Given the description of an element on the screen output the (x, y) to click on. 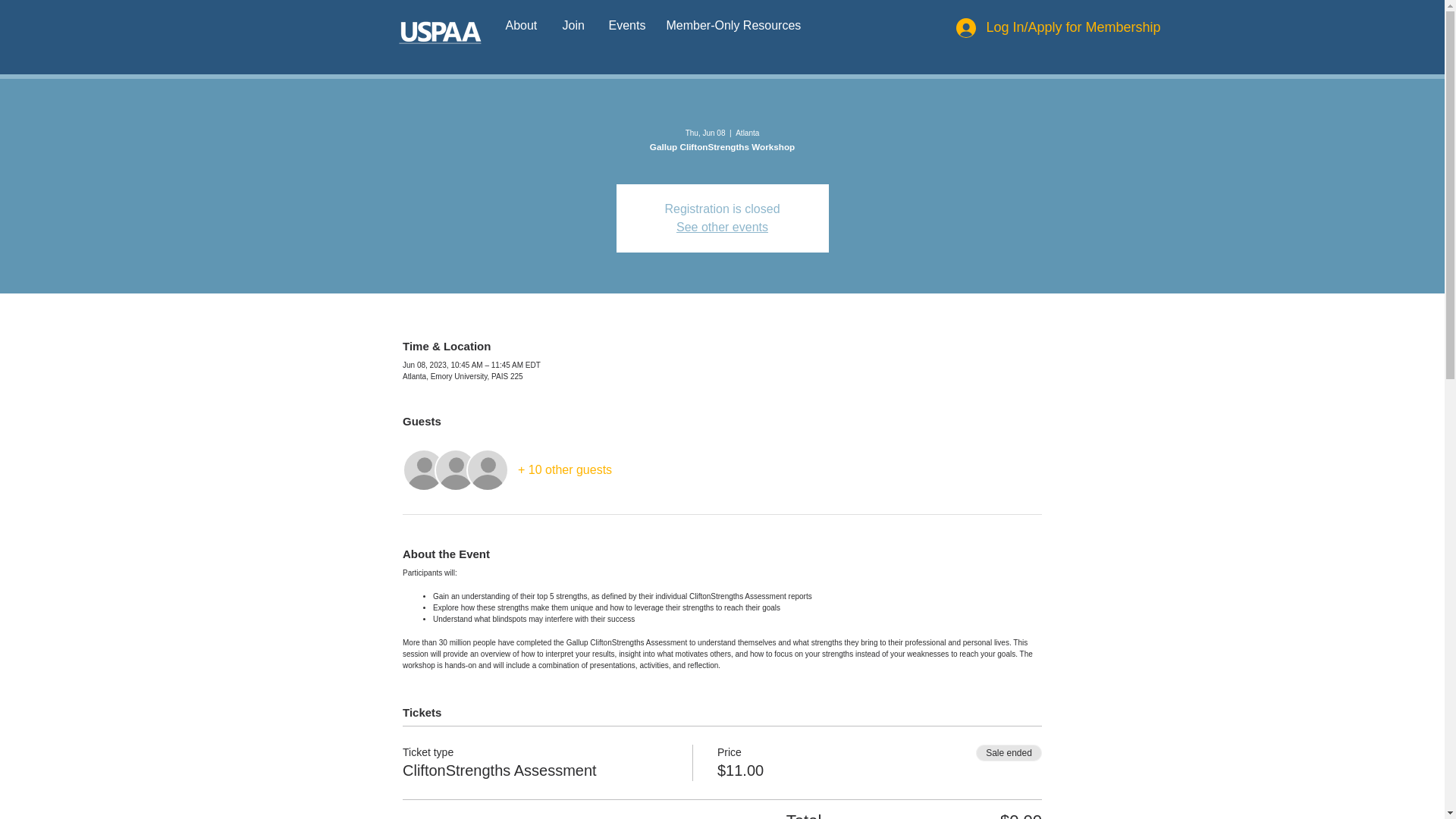
About (523, 25)
Member-Only Resources (732, 25)
Events (625, 25)
See other events (722, 226)
Join (573, 25)
